Given the description of an element on the screen output the (x, y) to click on. 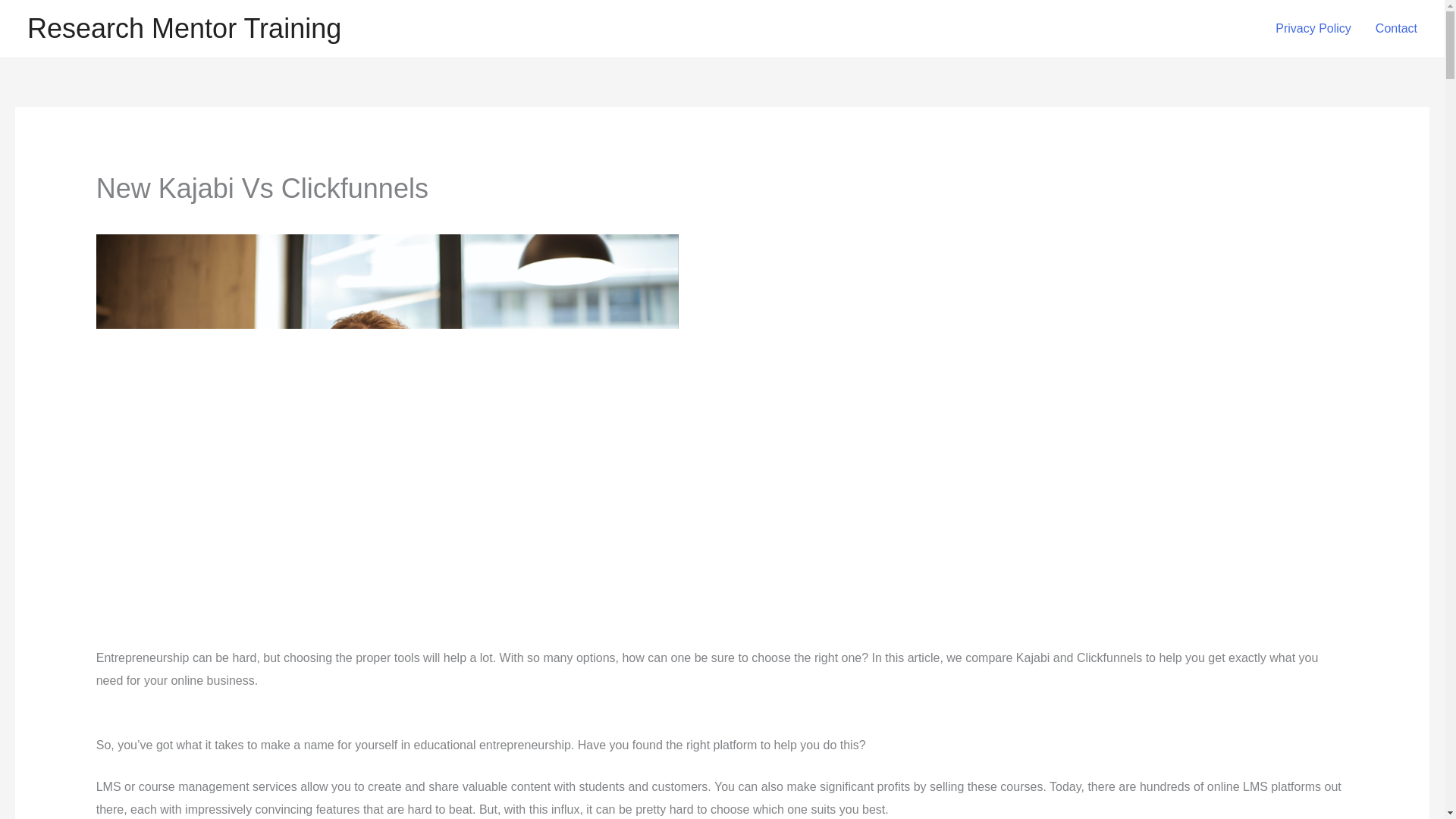
Privacy Policy (1312, 28)
Contact (1395, 28)
Research Mentor Training (183, 28)
